Given the description of an element on the screen output the (x, y) to click on. 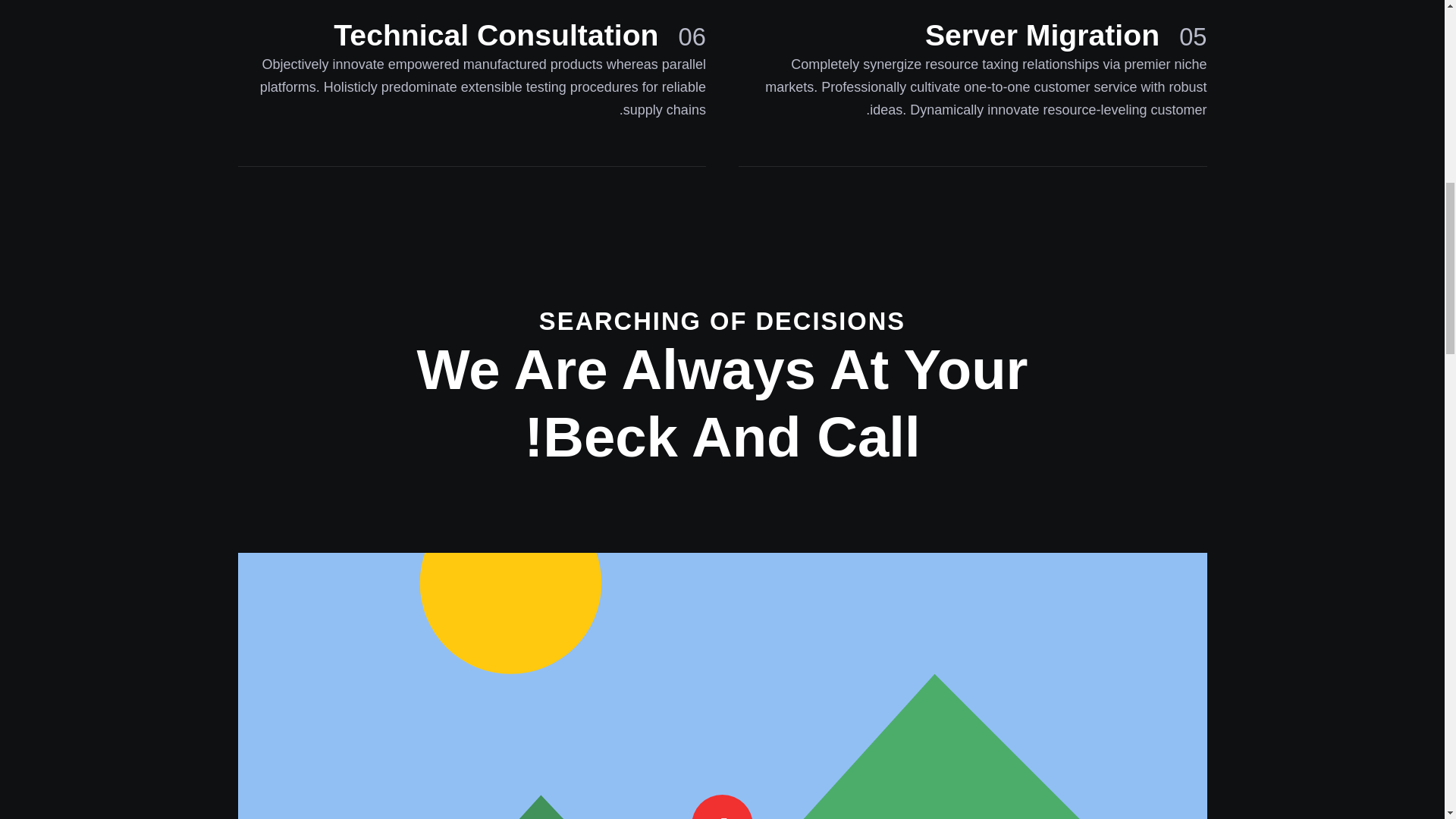
Back to top (1361, 27)
